Given the description of an element on the screen output the (x, y) to click on. 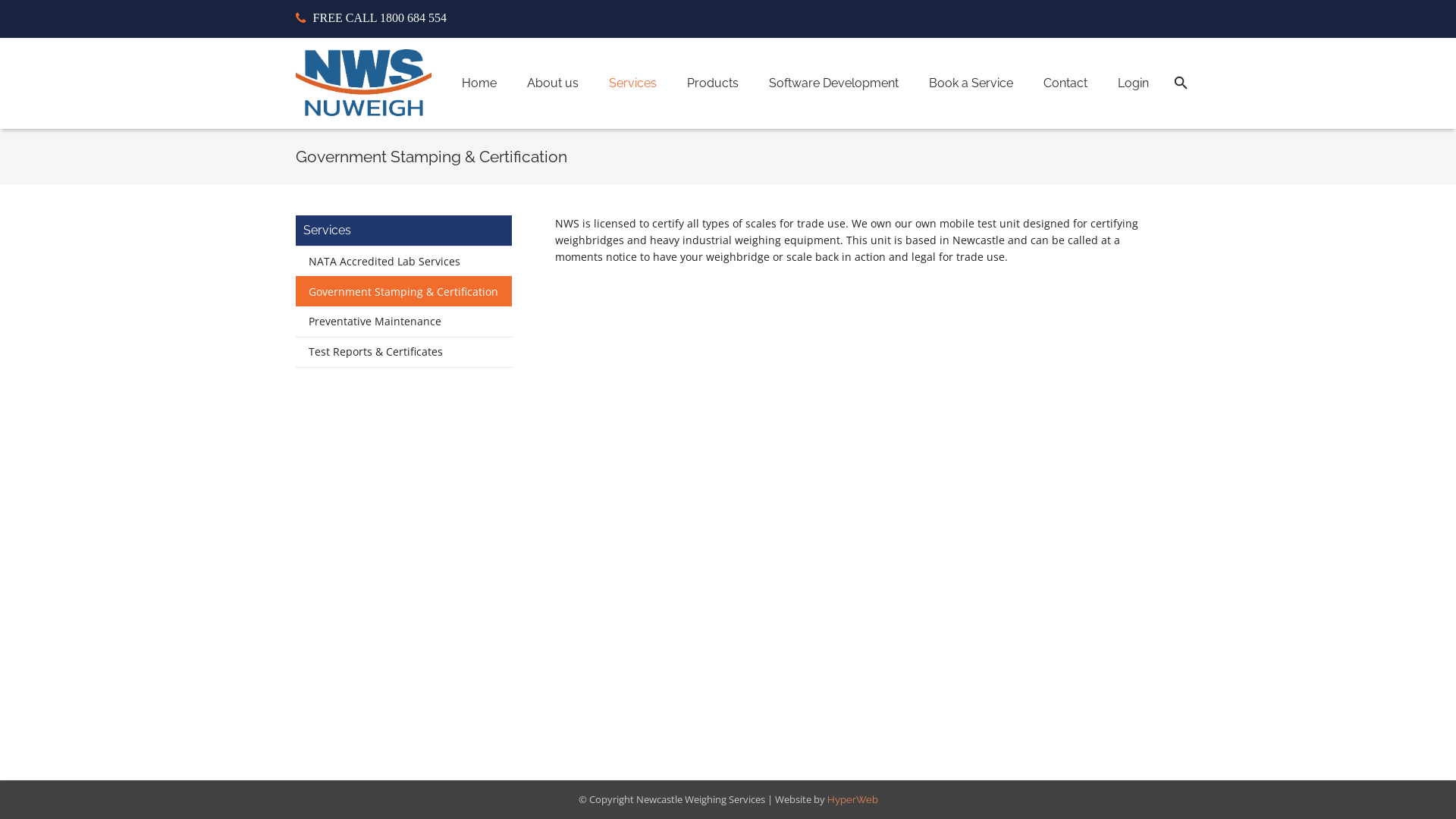
Services Element type: text (632, 83)
Contact Element type: text (1065, 83)
Home Element type: text (478, 83)
Software Development Element type: text (833, 83)
Book a Service Element type: text (970, 83)
Government Stamping & Certification Element type: text (403, 291)
Preventative Maintenance Element type: text (403, 321)
About us Element type: text (552, 83)
NATA Accredited Lab Services Element type: text (403, 260)
HyperWeb Element type: text (851, 799)
Login Element type: text (1133, 83)
Test Reports & Certificates Element type: text (403, 351)
Products Element type: text (712, 83)
